Given the description of an element on the screen output the (x, y) to click on. 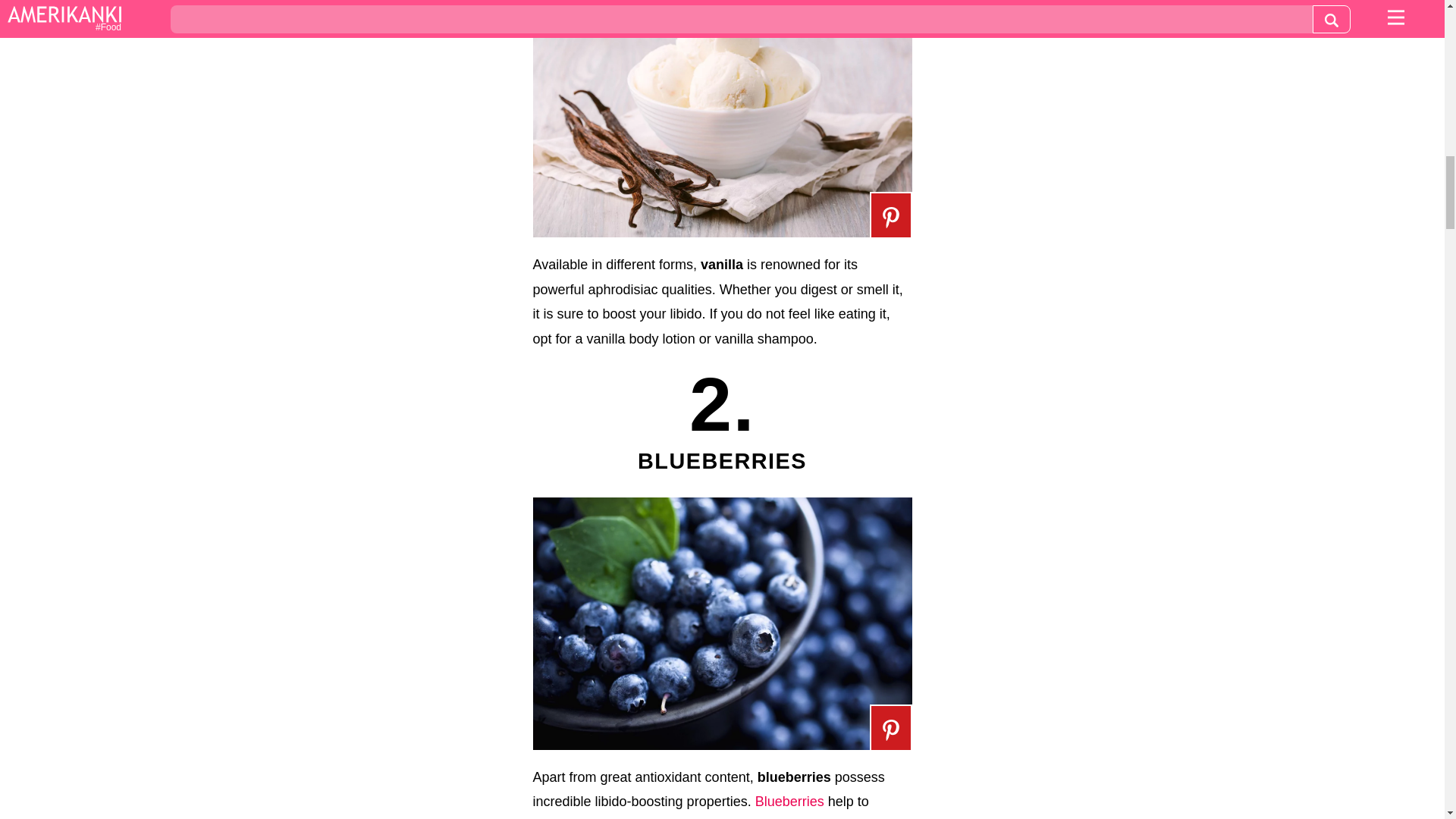
Blueberries (789, 801)
